Given the description of an element on the screen output the (x, y) to click on. 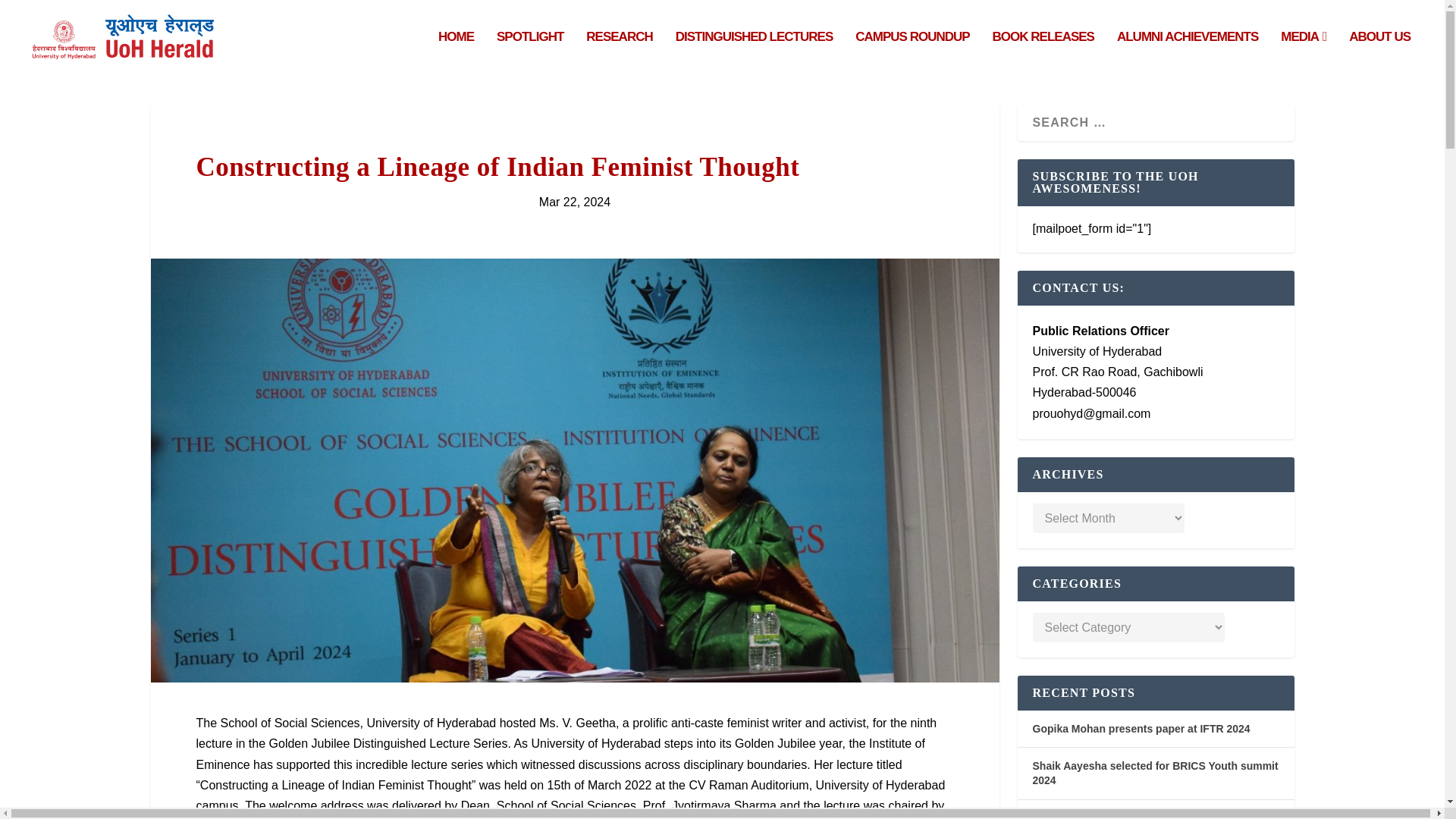
Search (34, 14)
Shaik Aayesha selected for BRICS Youth summit 2024 (1155, 773)
ALUMNI ACHIEVEMENTS (1186, 52)
HOME (456, 52)
DISTINGUISHED LECTURES (753, 52)
CAMPUS ROUNDUP (912, 52)
ABOUT US (1379, 52)
MEDIA (1303, 52)
SPOTLIGHT (529, 52)
RESEARCH (619, 52)
Gopika Mohan presents paper at IFTR 2024 (1141, 728)
BOOK RELEASES (1043, 52)
